Given the description of an element on the screen output the (x, y) to click on. 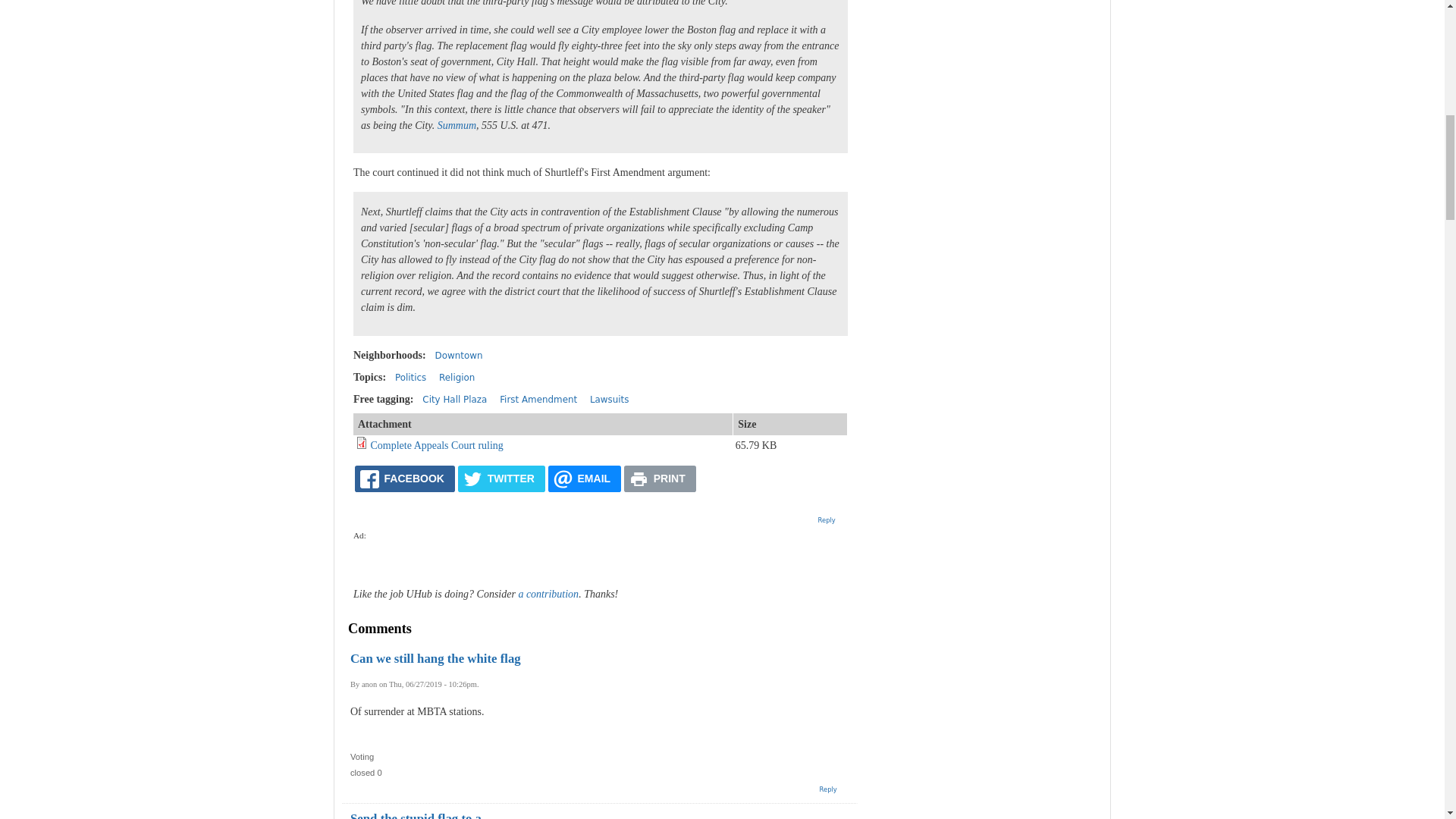
Lawsuits (608, 398)
First Amendment (537, 398)
City Hall Plaza (454, 398)
FACEBOOK (404, 479)
Downtown (459, 355)
Reply (826, 520)
shurtleff-appeal-ruling.pdf (435, 445)
TWITTER (501, 479)
Can we still hang the white flag (435, 658)
Politics (410, 377)
Complete Appeals Court ruling (435, 445)
Religion (456, 377)
a contribution (548, 593)
PRINT (659, 479)
Share your thoughts and opinions related to this posting. (826, 520)
